Given the description of an element on the screen output the (x, y) to click on. 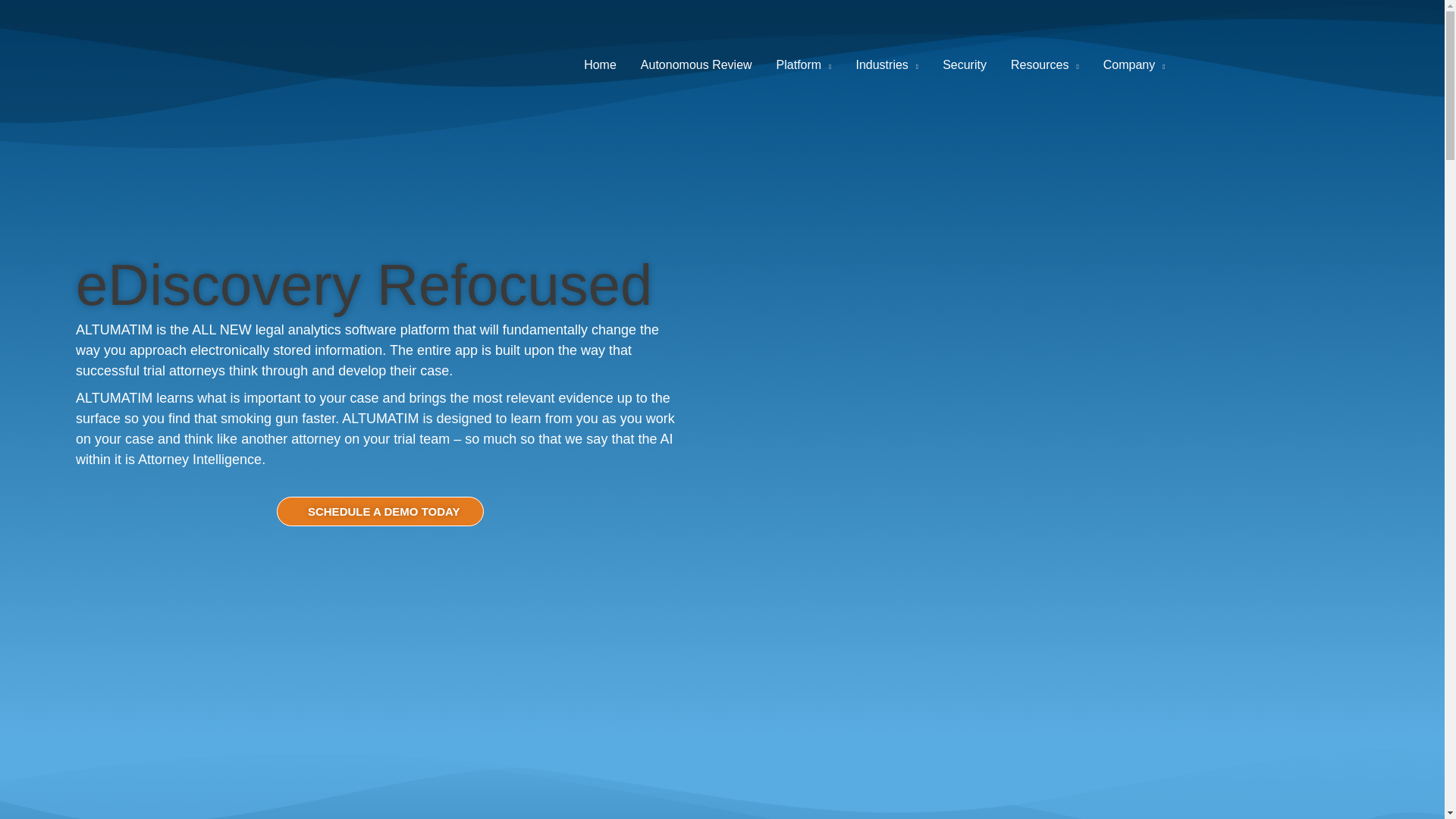
Resources (1044, 65)
Platform (804, 65)
Autonomous Review (696, 65)
Industries (886, 65)
Security (964, 65)
Company (1133, 65)
Home (600, 65)
